Given the description of an element on the screen output the (x, y) to click on. 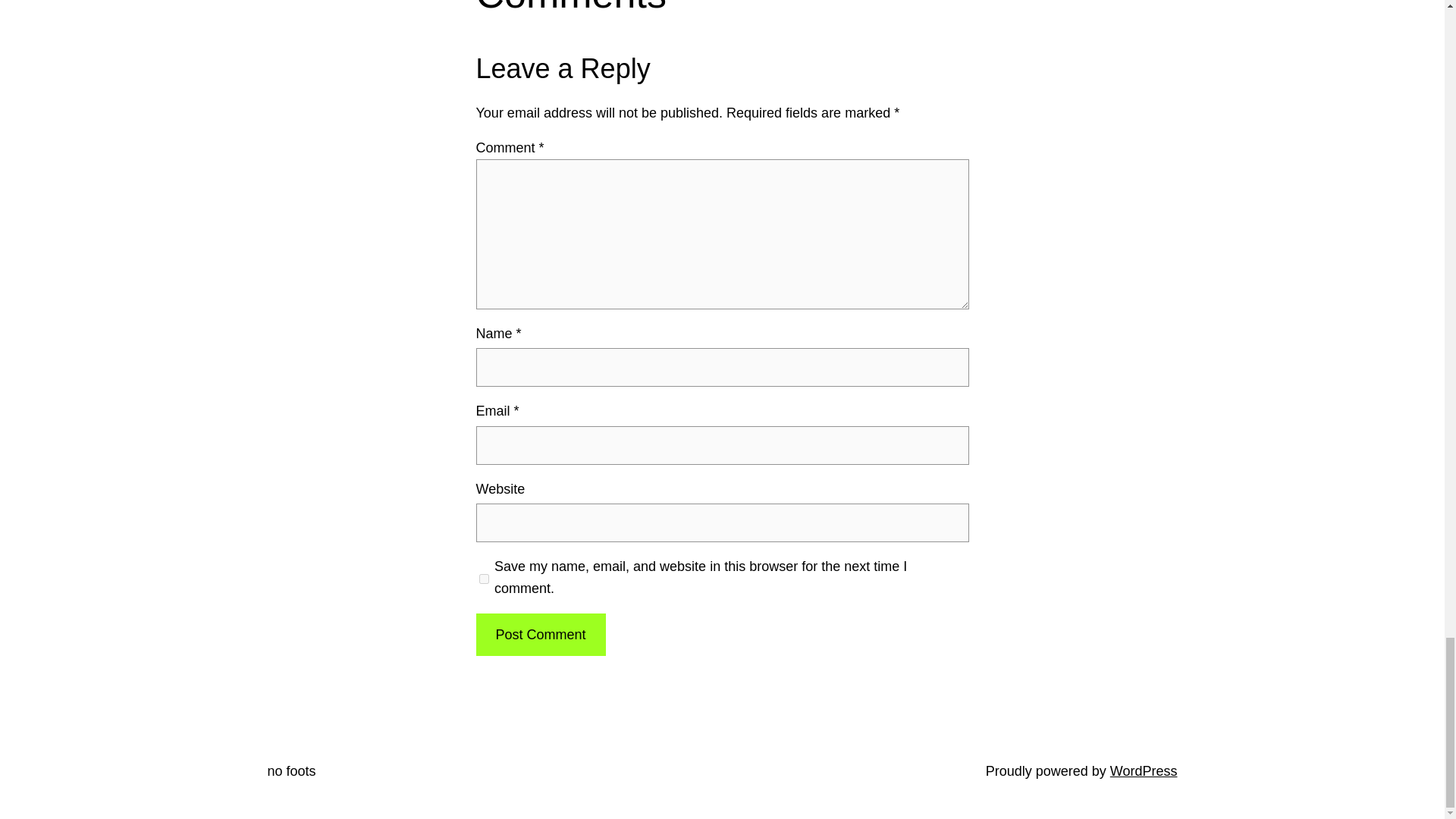
Post Comment (540, 634)
no foots (290, 770)
WordPress (1143, 770)
Post Comment (540, 634)
